Given the description of an element on the screen output the (x, y) to click on. 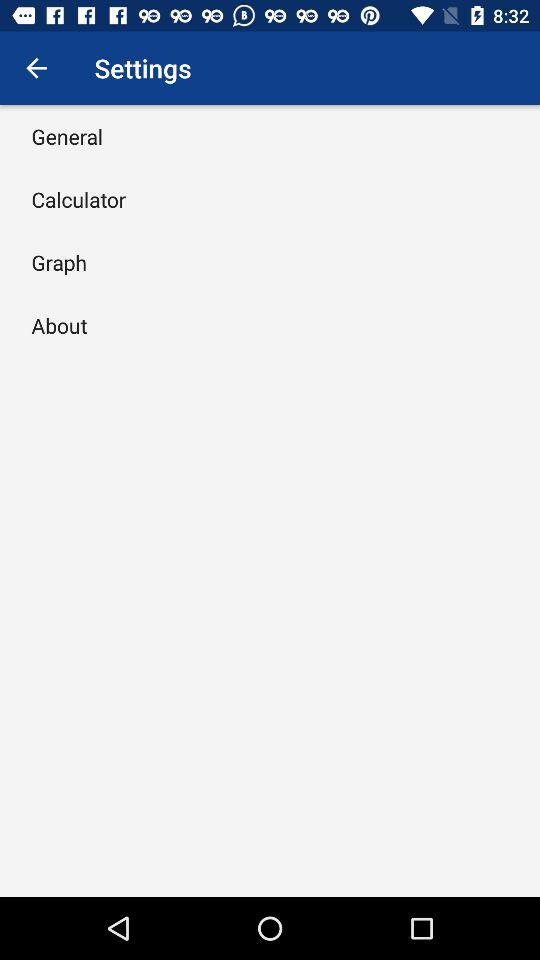
scroll to the general (67, 136)
